Given the description of an element on the screen output the (x, y) to click on. 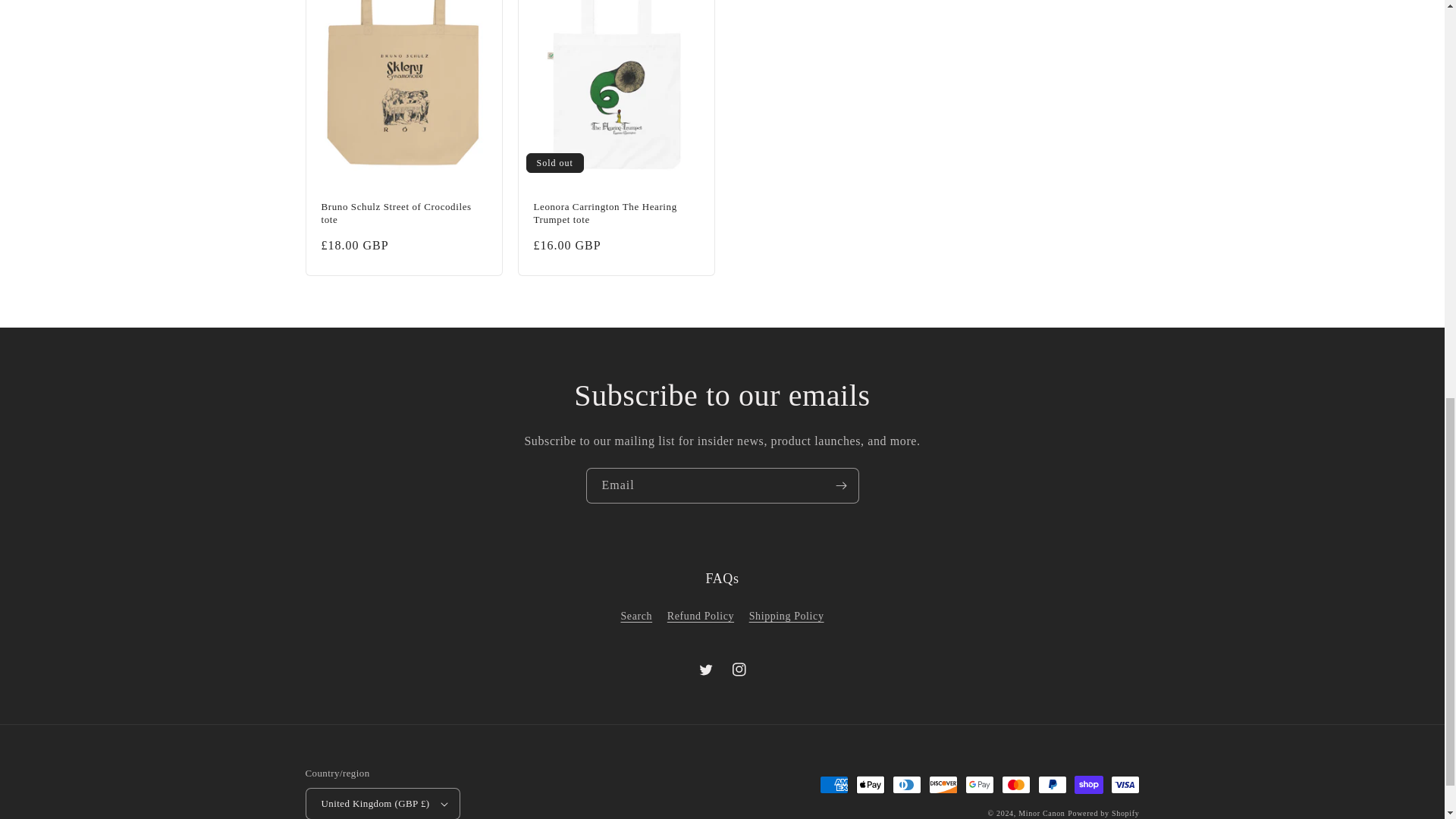
Bruno Schulz Street of Crocodiles tote (403, 213)
